Given the description of an element on the screen output the (x, y) to click on. 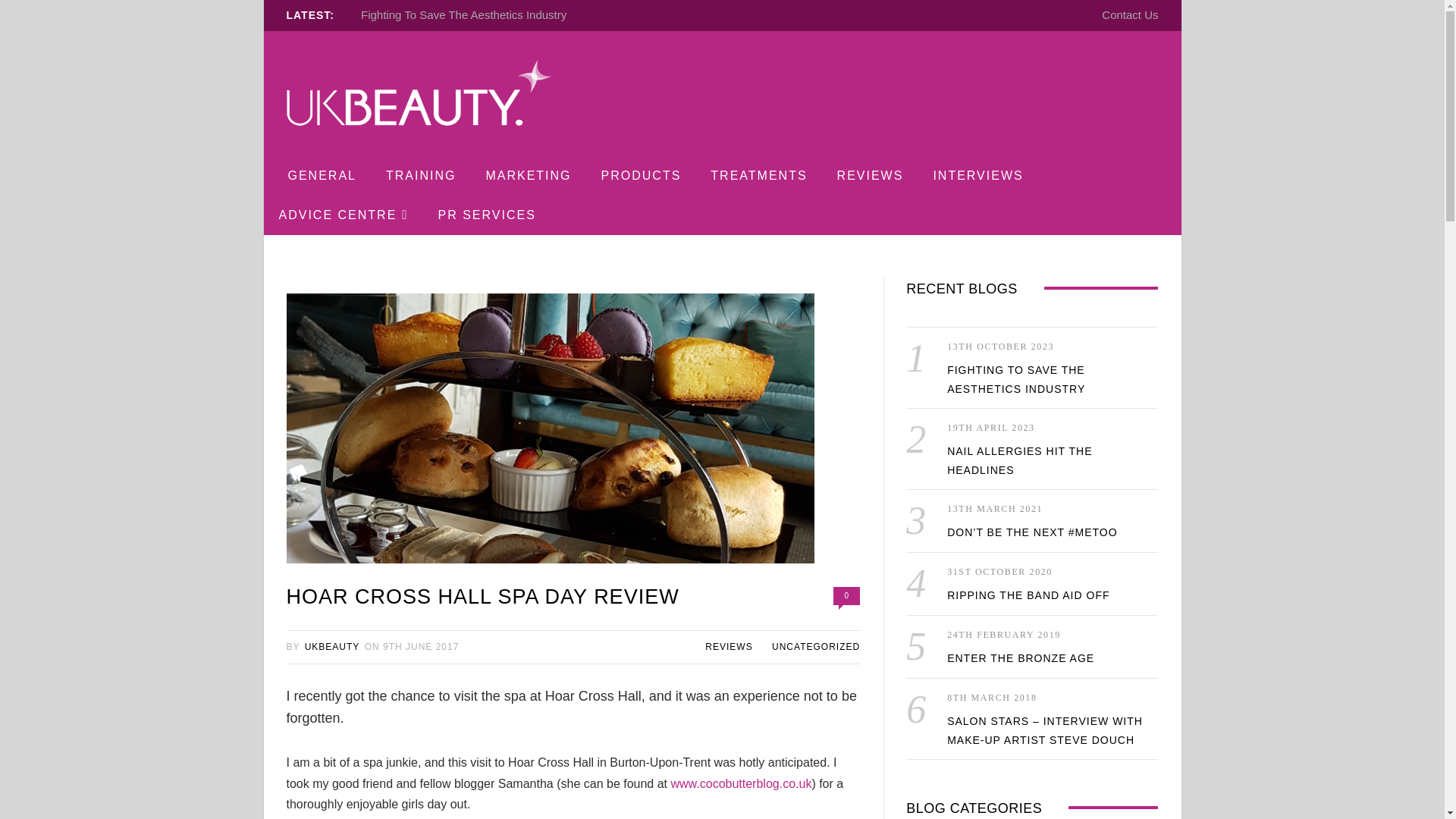
GENERAL (321, 175)
TRAINING (420, 175)
Fighting To Save The Aesthetics Industry (463, 14)
UNCATEGORIZED (815, 646)
TREATMENTS (758, 175)
PR SERVICES (486, 215)
PRODUCTS (640, 175)
Fighting To Save The Aesthetics Industry (463, 14)
www.cocobutterblog.co.uk (739, 783)
